Given the description of an element on the screen output the (x, y) to click on. 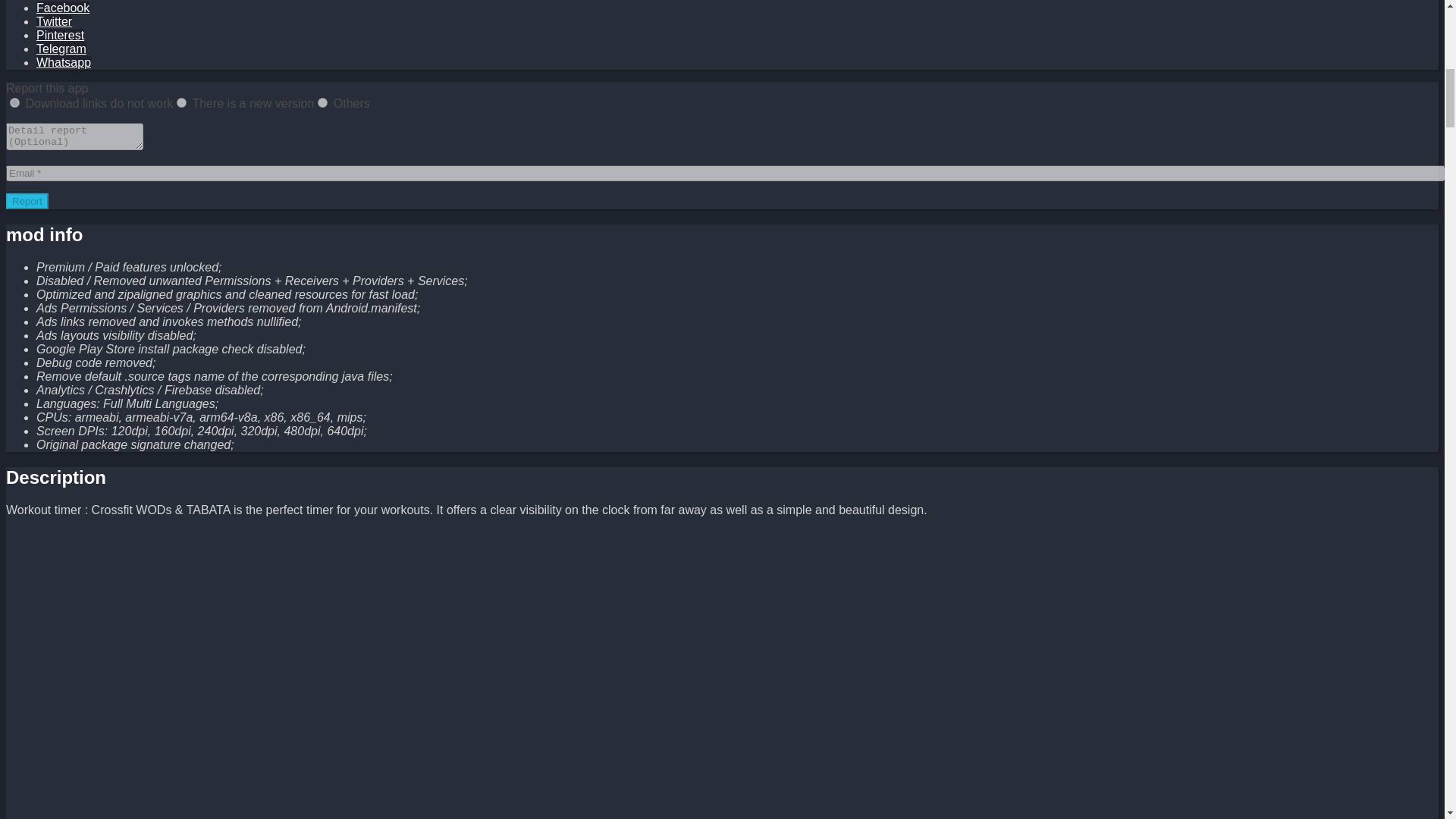
2 (181, 102)
Whatsapp (63, 62)
Report (26, 201)
Facebook (62, 7)
Twitter (53, 21)
Report (26, 201)
3 (322, 102)
Pinterest (60, 34)
Telegram (60, 48)
1 (15, 102)
